Given the description of an element on the screen output the (x, y) to click on. 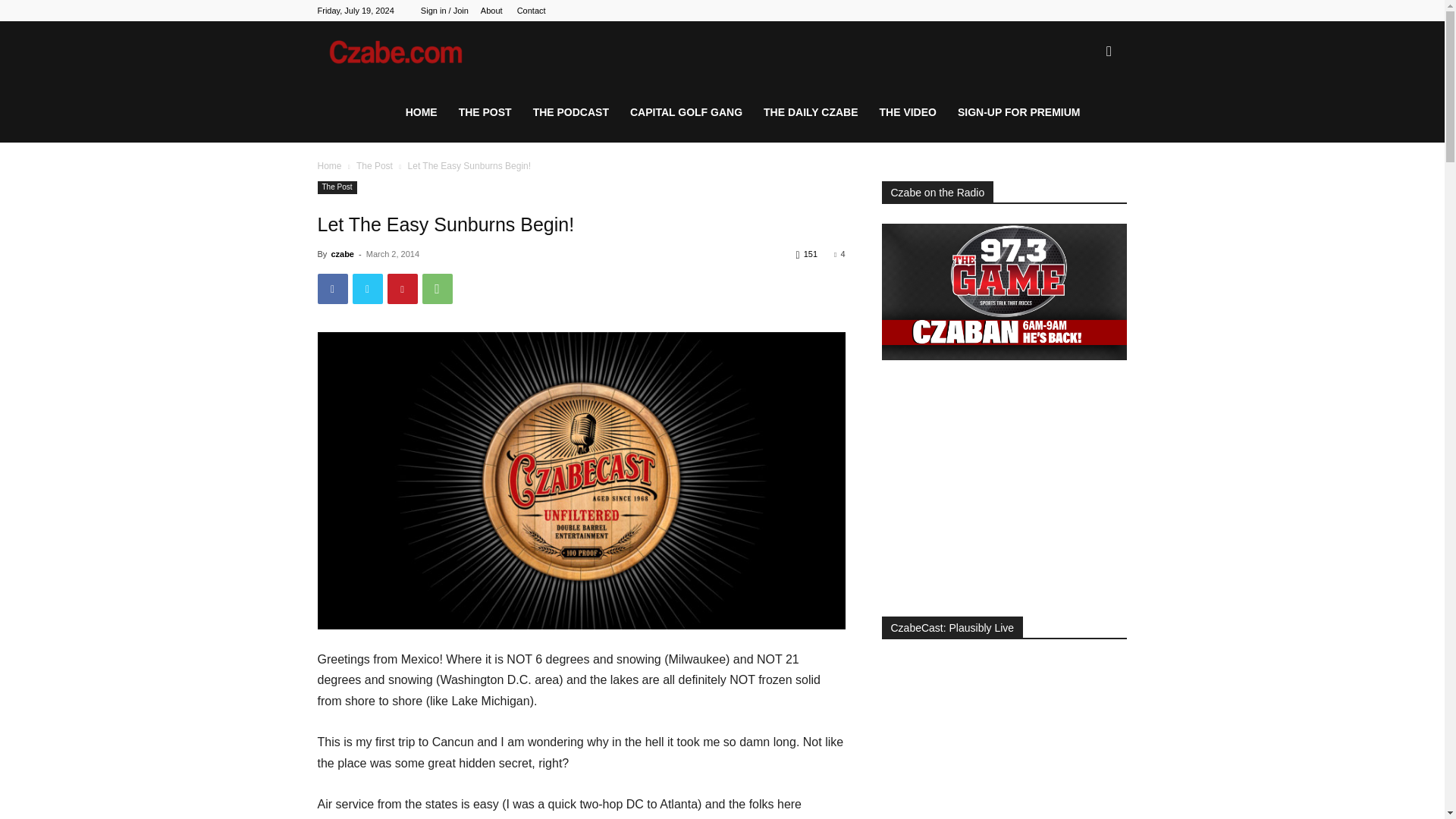
SIGN-UP FOR PREMIUM (1018, 111)
THE POST (485, 111)
4 (839, 253)
Home (328, 165)
Search (1085, 124)
Twitter (366, 288)
Facebook (332, 288)
WhatsApp (436, 288)
THE PODCAST (571, 111)
Contact (531, 10)
Pinterest (401, 288)
The Post (374, 165)
THE DAILY CZABE (809, 111)
